Given the description of an element on the screen output the (x, y) to click on. 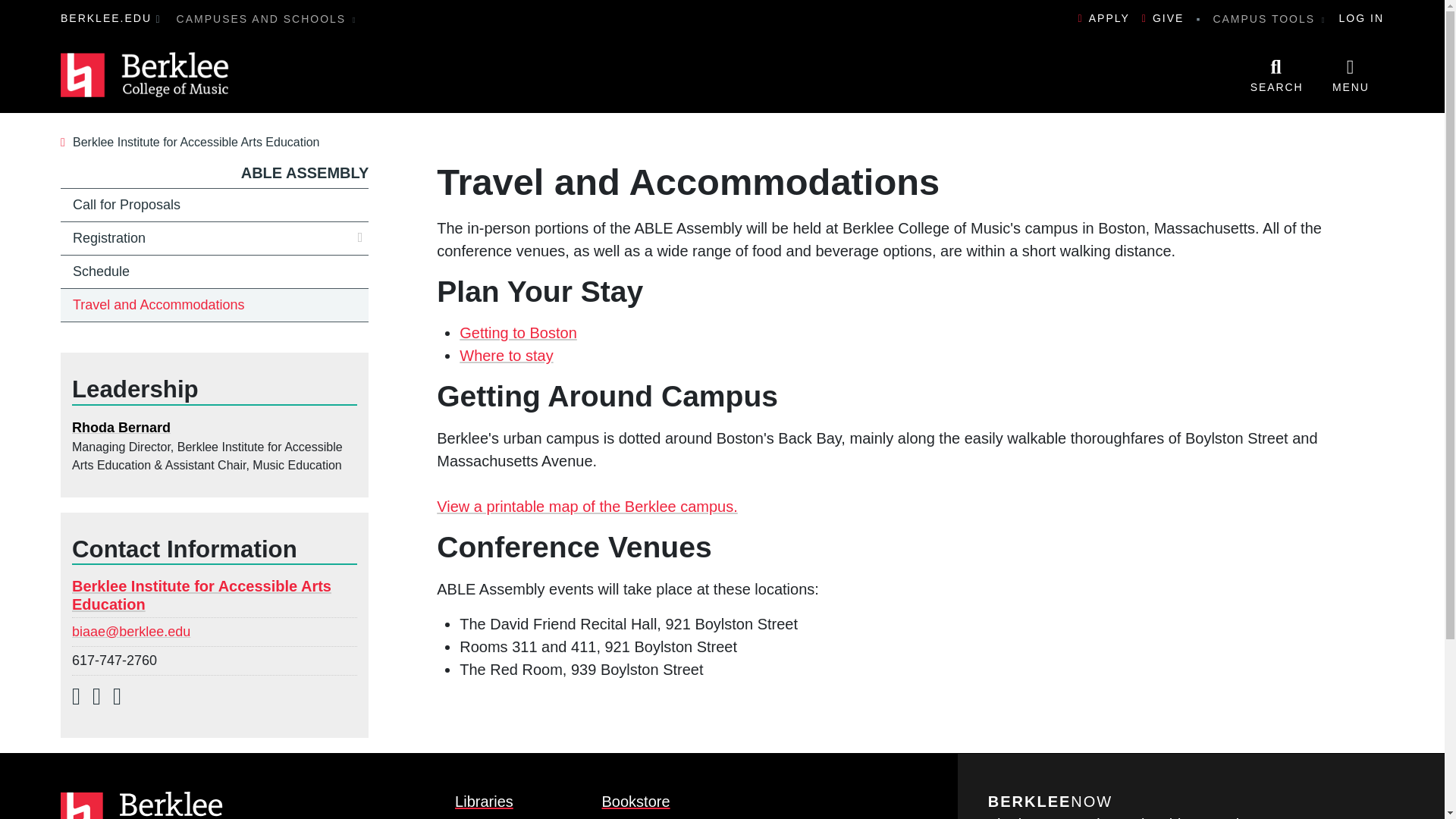
SEARCH (1275, 74)
LOG IN (1361, 18)
GIVE (1163, 18)
CAMPUSES AND SCHOOLS (267, 18)
BERKLEE.EDU (106, 18)
Home (146, 75)
Berklee College of Music (146, 75)
APPLY (1103, 18)
CAMPUS TOOLS (1268, 18)
